Given the description of an element on the screen output the (x, y) to click on. 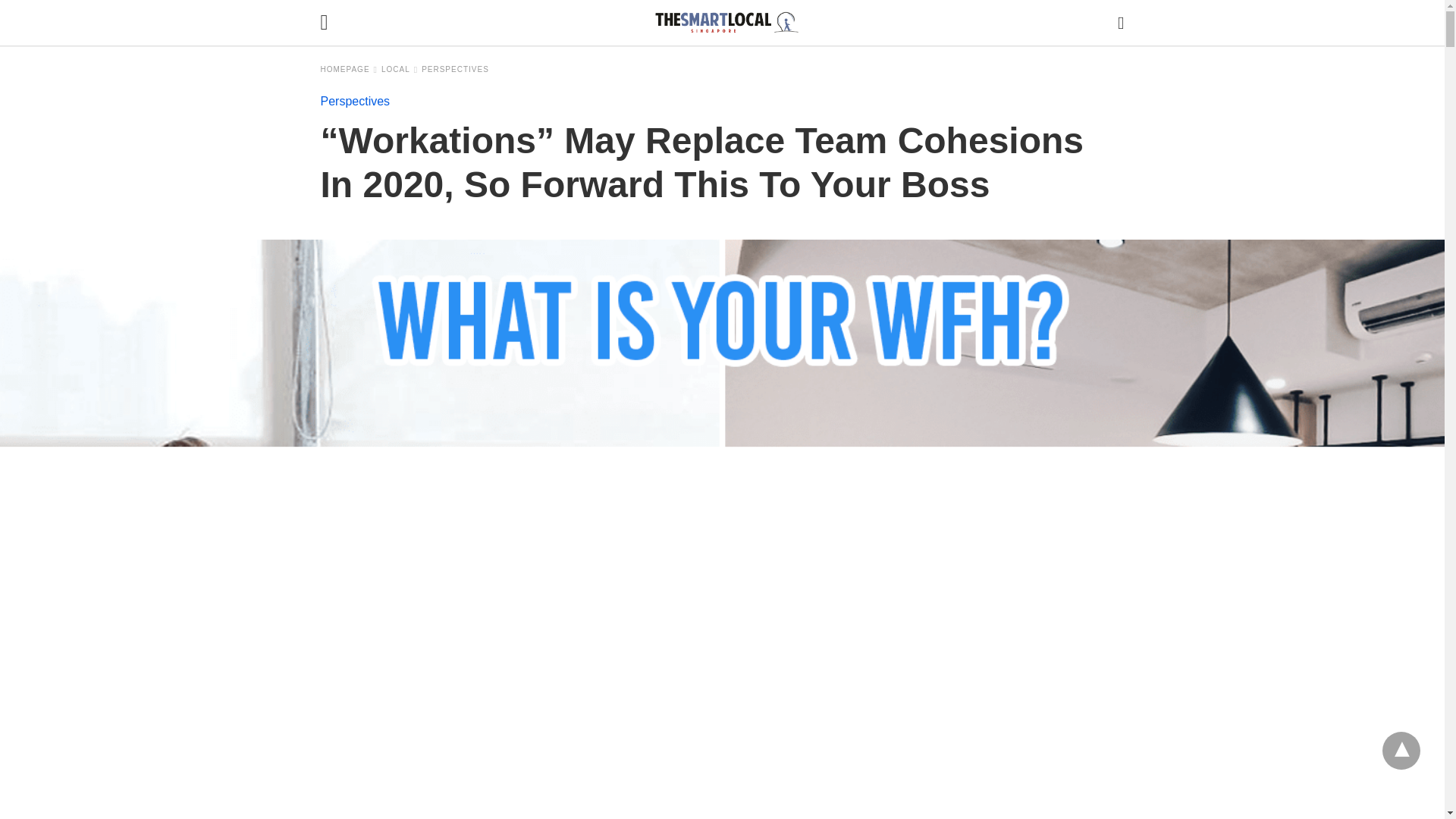
Local (399, 69)
Perspectives (355, 101)
Perspectives (455, 69)
Homepage (348, 69)
